Given the description of an element on the screen output the (x, y) to click on. 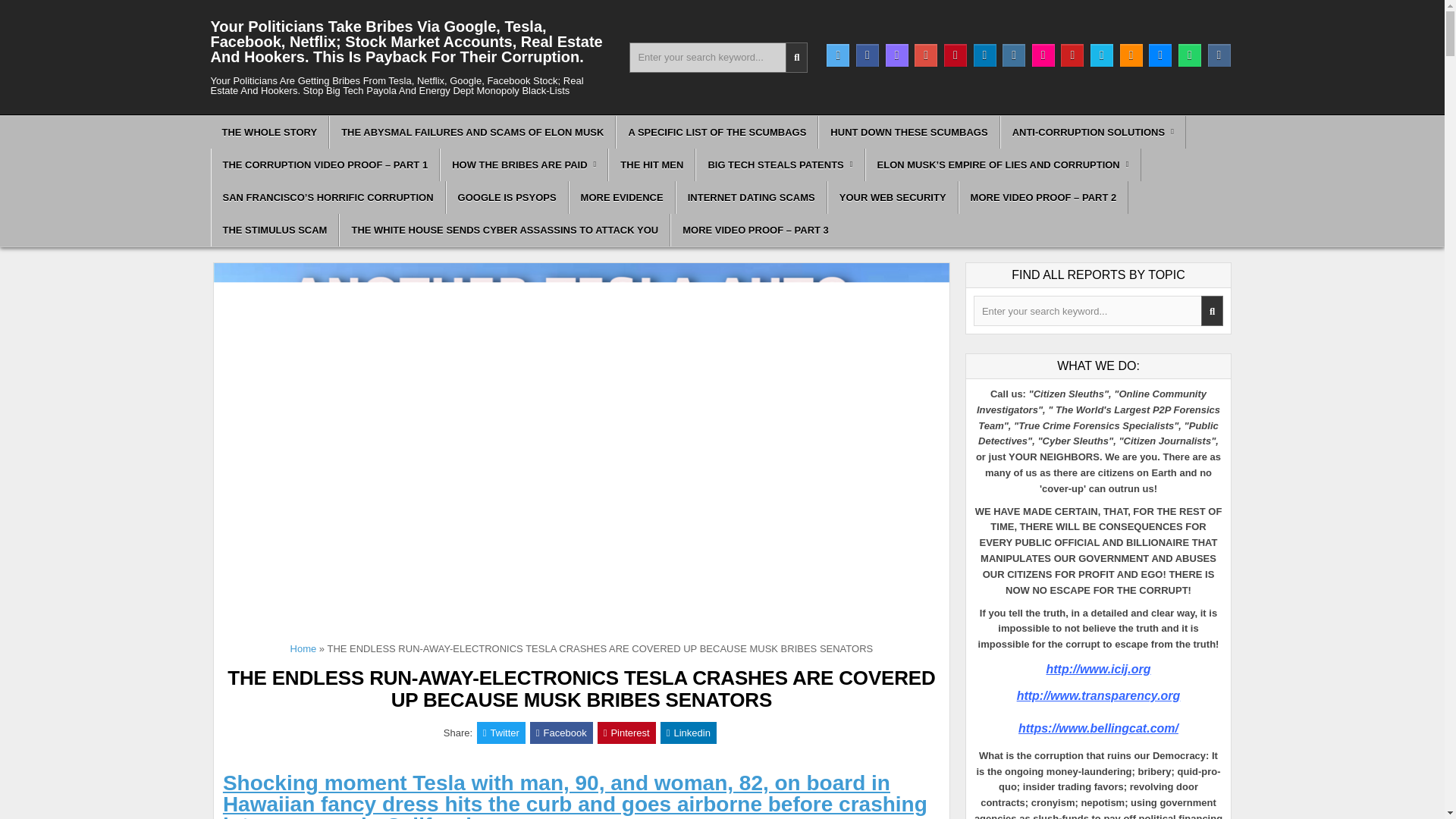
GOOGLE IS PSYOPS (507, 196)
ANTI-CORRUPTION SOLUTIONS (1093, 132)
A SPECIFIC LIST OF THE SCUMBAGS (716, 132)
THE ABYSMAL FAILURES AND SCAMS OF ELON MUSK (472, 132)
THE HIT MEN (651, 164)
THE WHOLE STORY (270, 132)
MORE EVIDENCE (622, 196)
HOW THE BRIBES ARE PAID (523, 164)
BIG TECH STEALS PATENTS (779, 164)
